Given the description of an element on the screen output the (x, y) to click on. 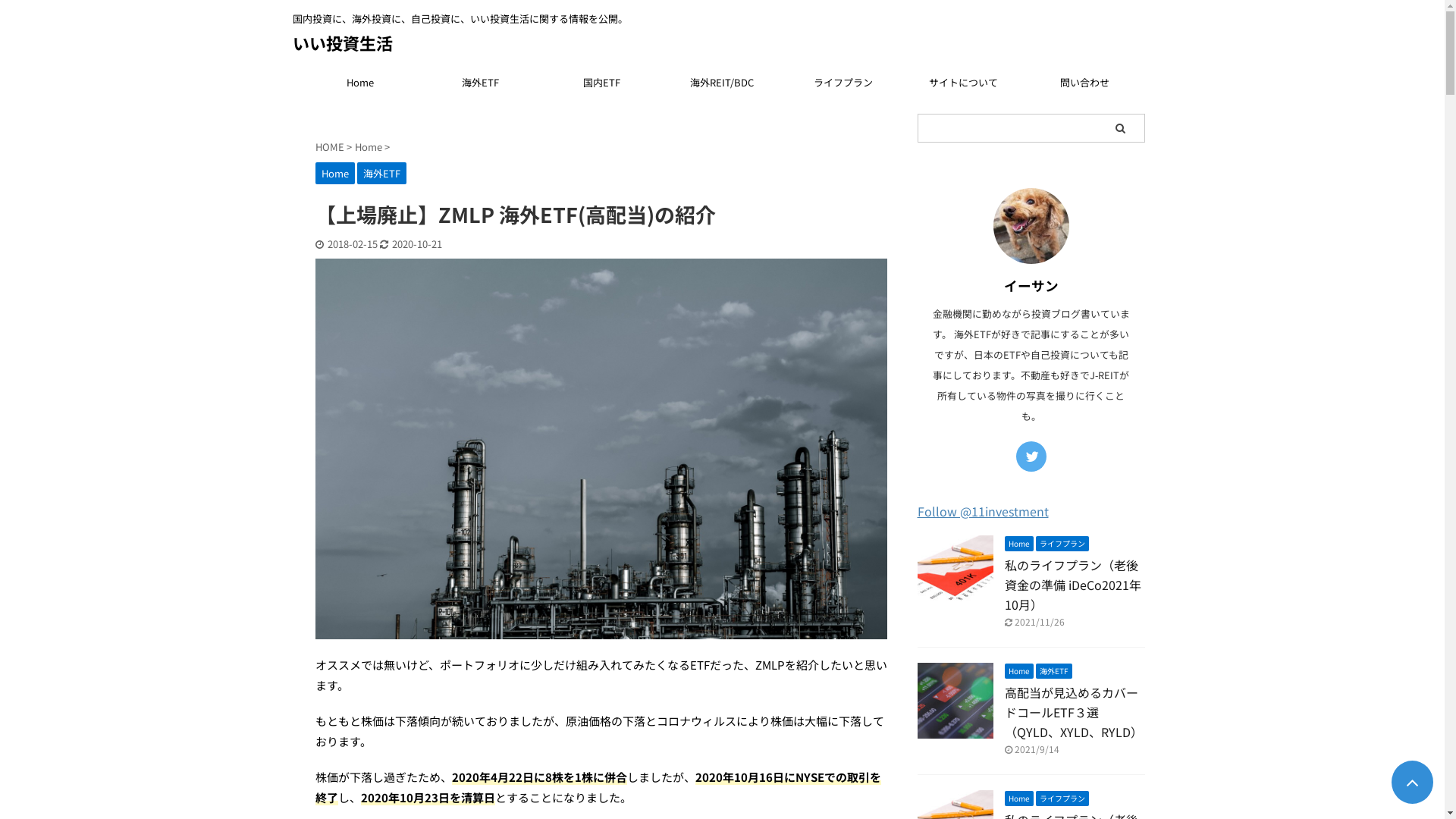
Home Element type: text (1018, 541)
Home Element type: text (1018, 796)
Home Element type: text (1018, 669)
HOME Element type: text (330, 146)
Home Element type: text (369, 146)
Follow @11investment Element type: text (982, 511)
Home Element type: text (334, 172)
Home Element type: text (360, 81)
